Given the description of an element on the screen output the (x, y) to click on. 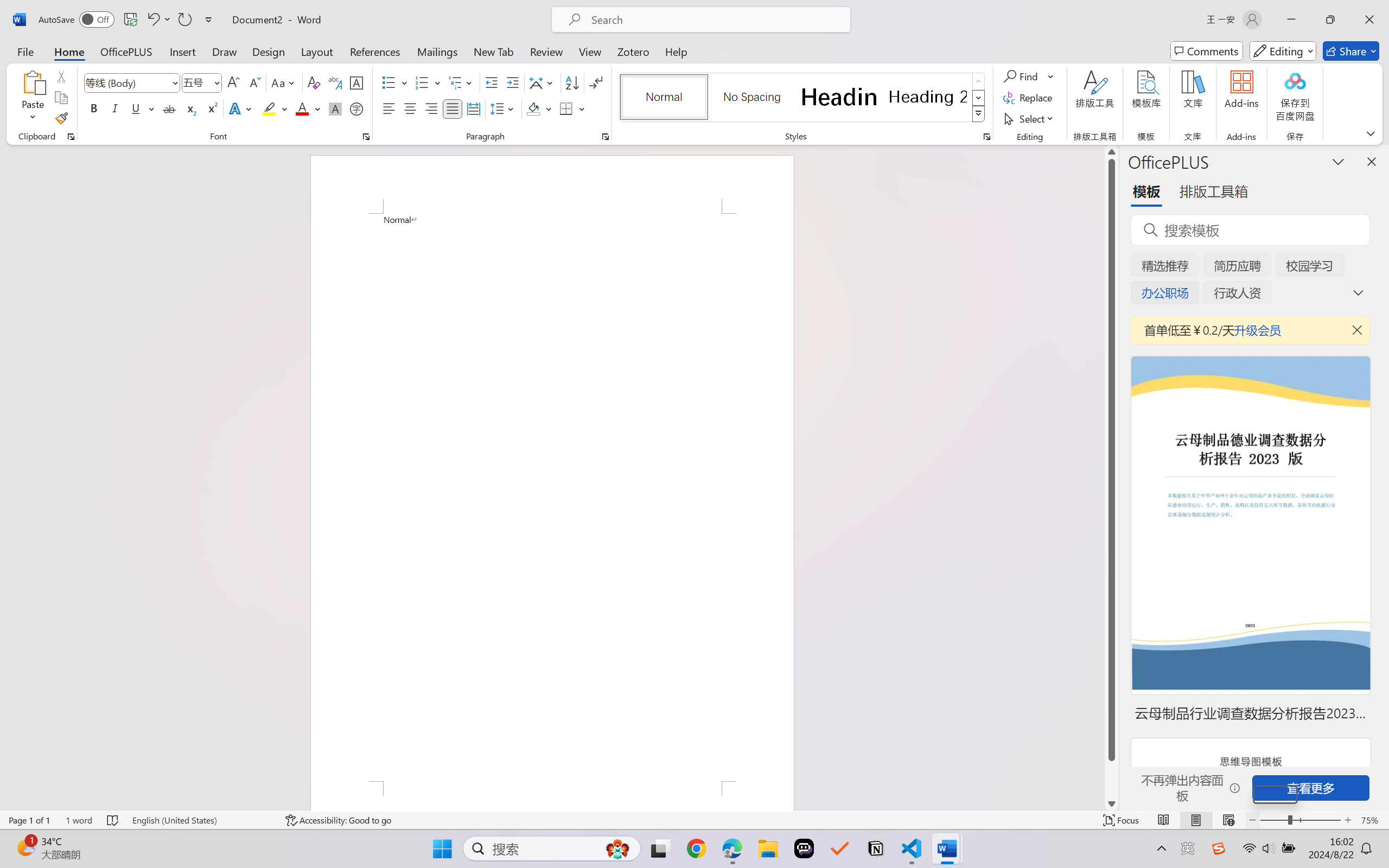
References (375, 51)
Microsoft search (715, 19)
Paste (33, 81)
Layout (316, 51)
Subscript (190, 108)
Shading RGB(0, 0, 0) (533, 108)
Cut (60, 75)
New Tab (493, 51)
Review (546, 51)
Borders (571, 108)
Class: MsoCommandBar (694, 819)
